Given the description of an element on the screen output the (x, y) to click on. 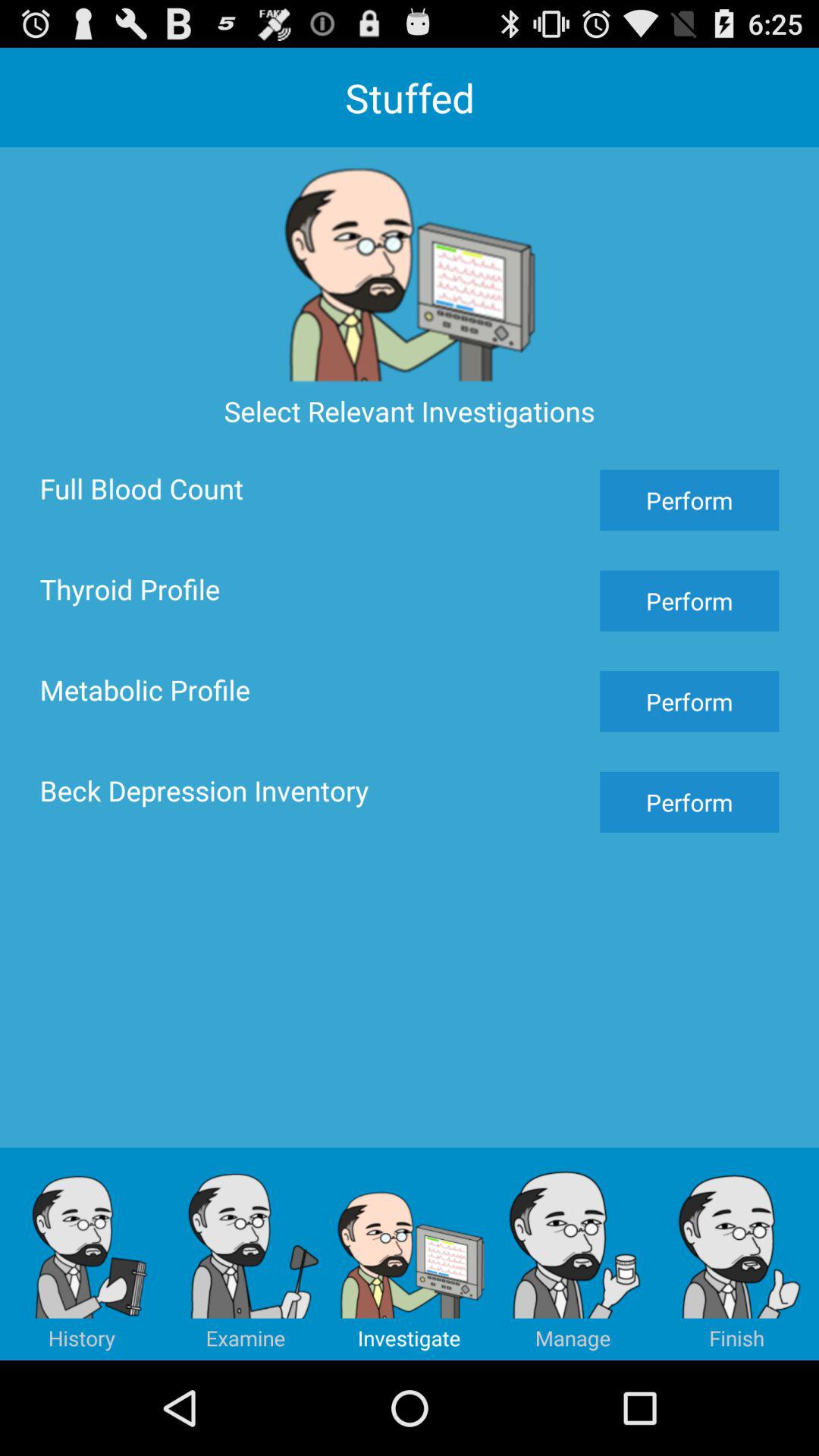
tap icon below the beck depression inventory app (245, 1253)
